Given the description of an element on the screen output the (x, y) to click on. 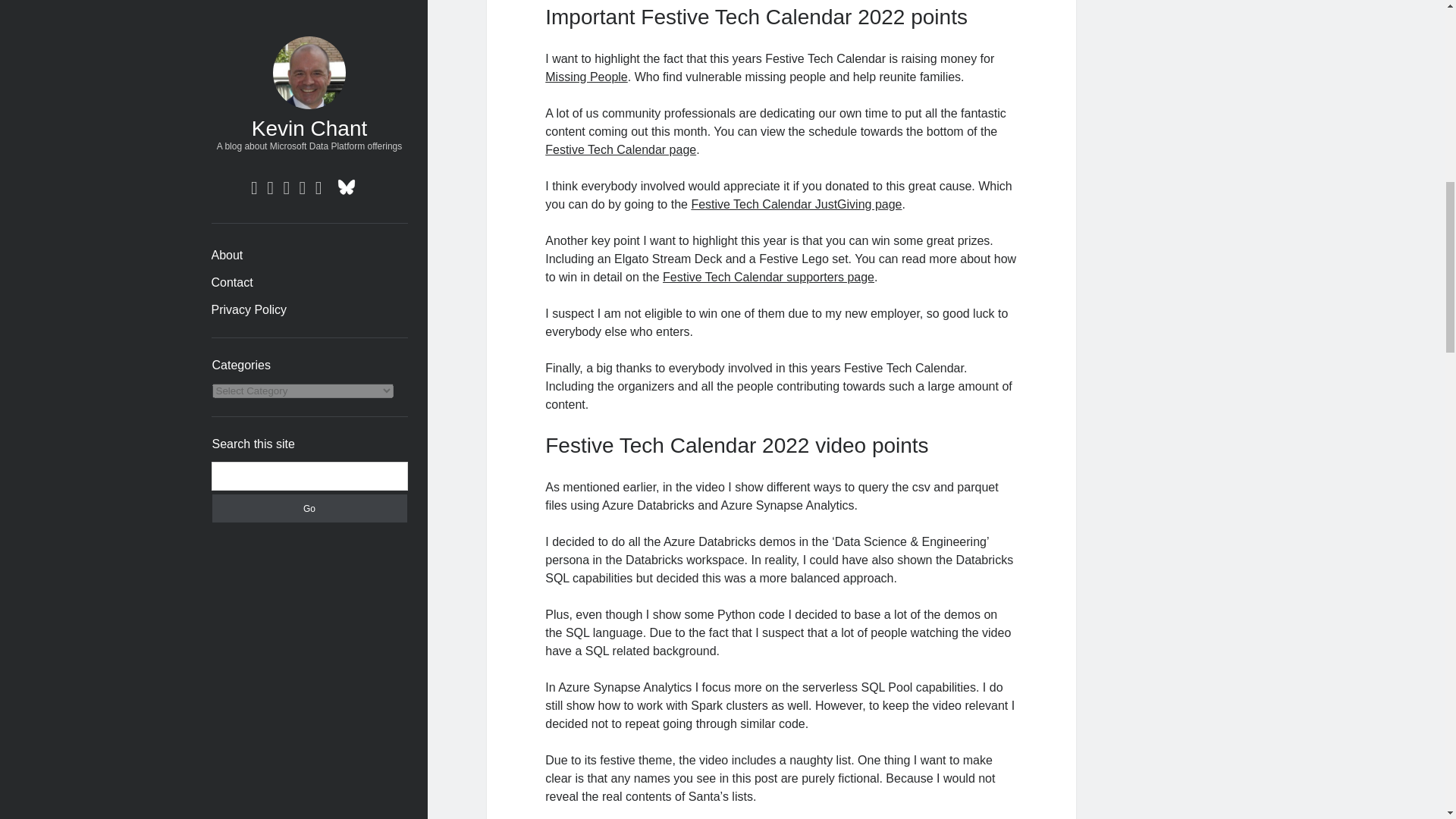
Festive Tech Calendar supporters page (768, 277)
Festive Tech Calendar page (619, 149)
Festive Tech Calendar JustGiving page (795, 204)
Missing People (585, 76)
